Given the description of an element on the screen output the (x, y) to click on. 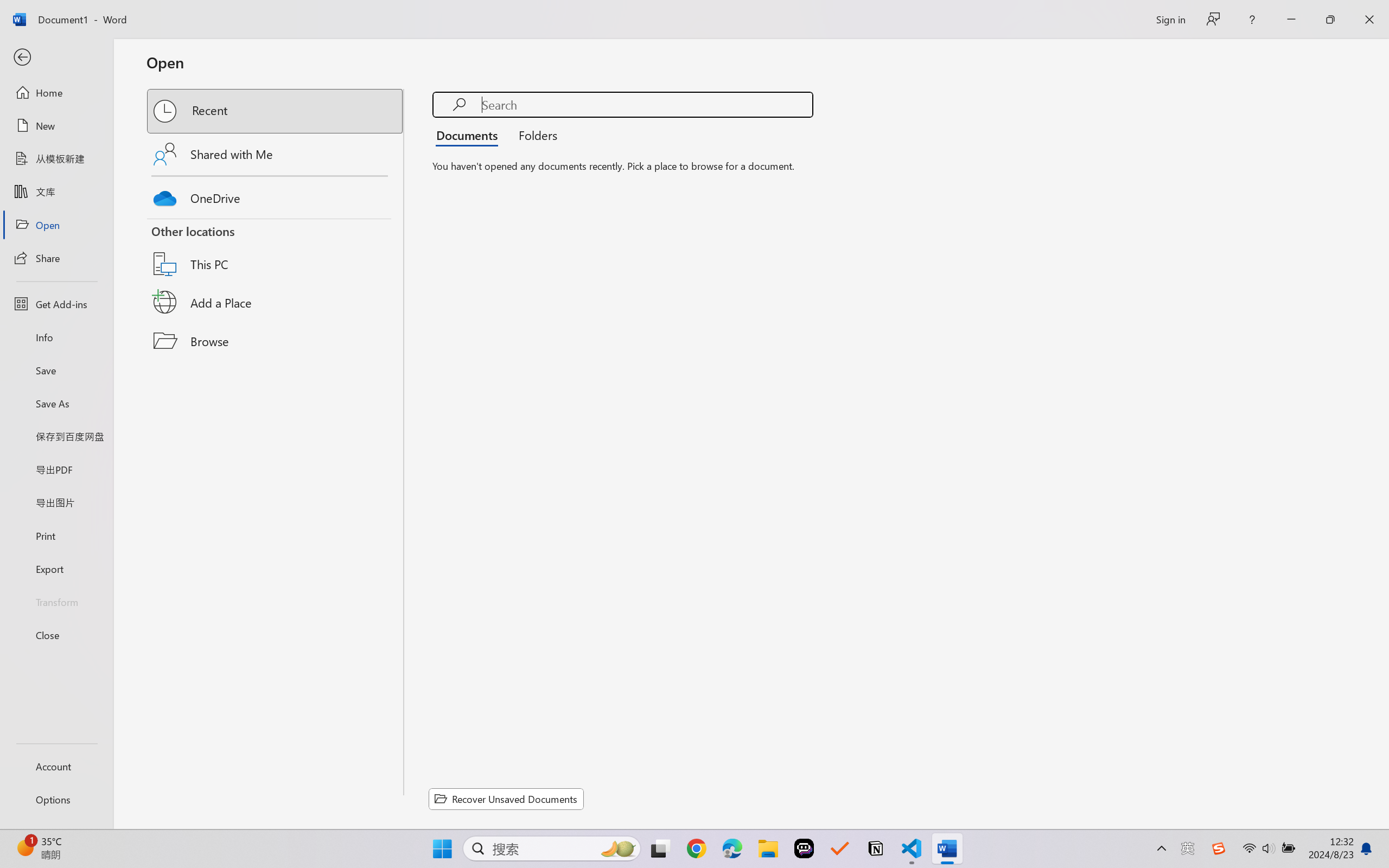
New (56, 125)
This PC (275, 249)
Shared with Me (275, 153)
OneDrive (275, 195)
Info (56, 337)
